Given the description of an element on the screen output the (x, y) to click on. 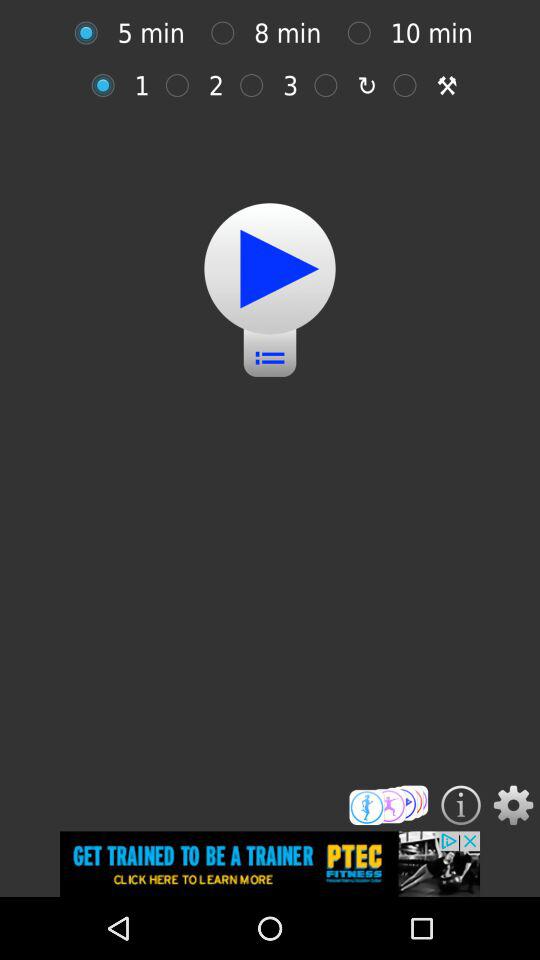
select number 2 (182, 85)
